Given the description of an element on the screen output the (x, y) to click on. 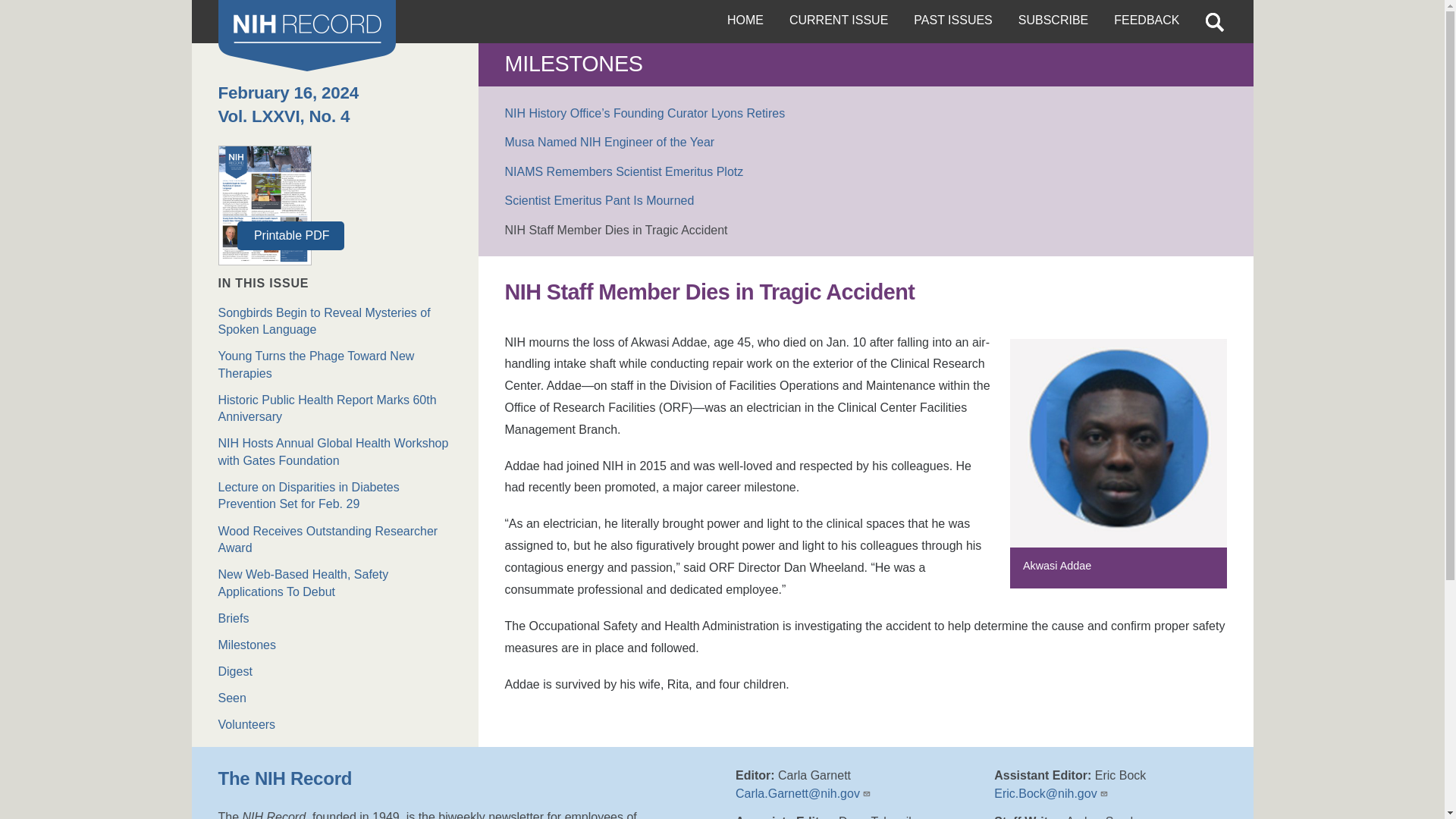
Historic Public Health Report Marks 60th Anniversary (334, 408)
Songbirds Begin to Reveal Mysteries of Spoken Language (334, 321)
Musa Named NIH Engineer of the Year (609, 141)
Vol. LXXVI, No. 4 (284, 116)
NIAMS Remembers Scientist Emeritus Plotz (624, 171)
Seen (334, 698)
February 16, 2024 (288, 92)
Briefs (334, 618)
Volunteers (334, 724)
Digest (334, 671)
New Web-Based Health, Safety Applications To Debut (334, 583)
PAST ISSUES (952, 21)
